Given the description of an element on the screen output the (x, y) to click on. 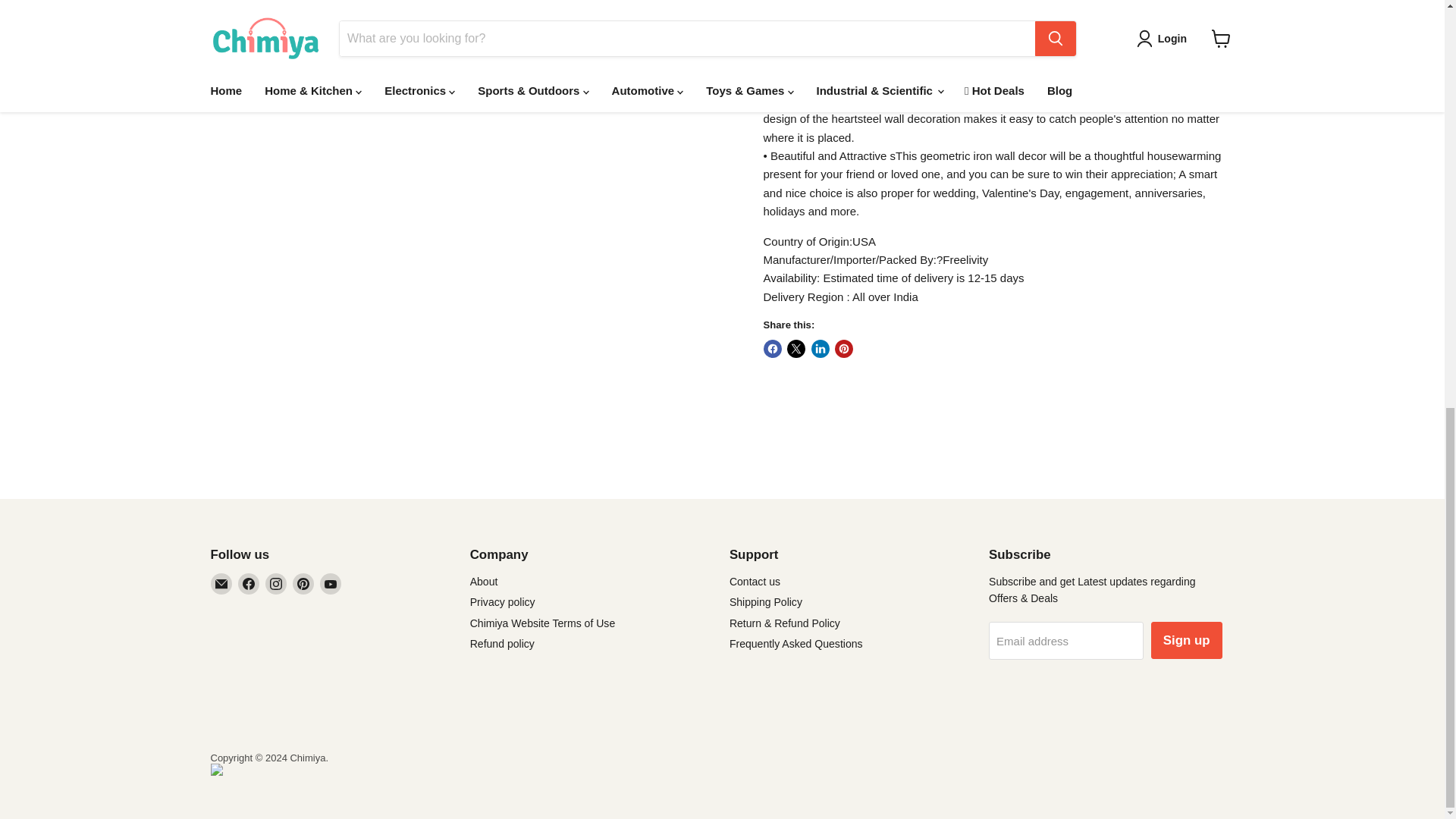
Instagram (275, 583)
Facebook (248, 583)
Pinterest (303, 583)
Email (221, 583)
